Given the description of an element on the screen output the (x, y) to click on. 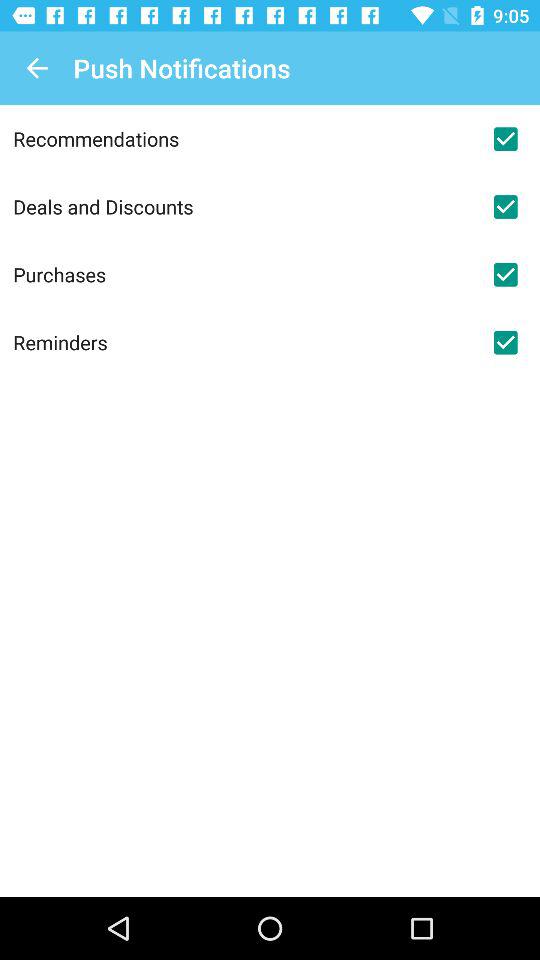
launch icon below the recommendations icon (242, 206)
